Given the description of an element on the screen output the (x, y) to click on. 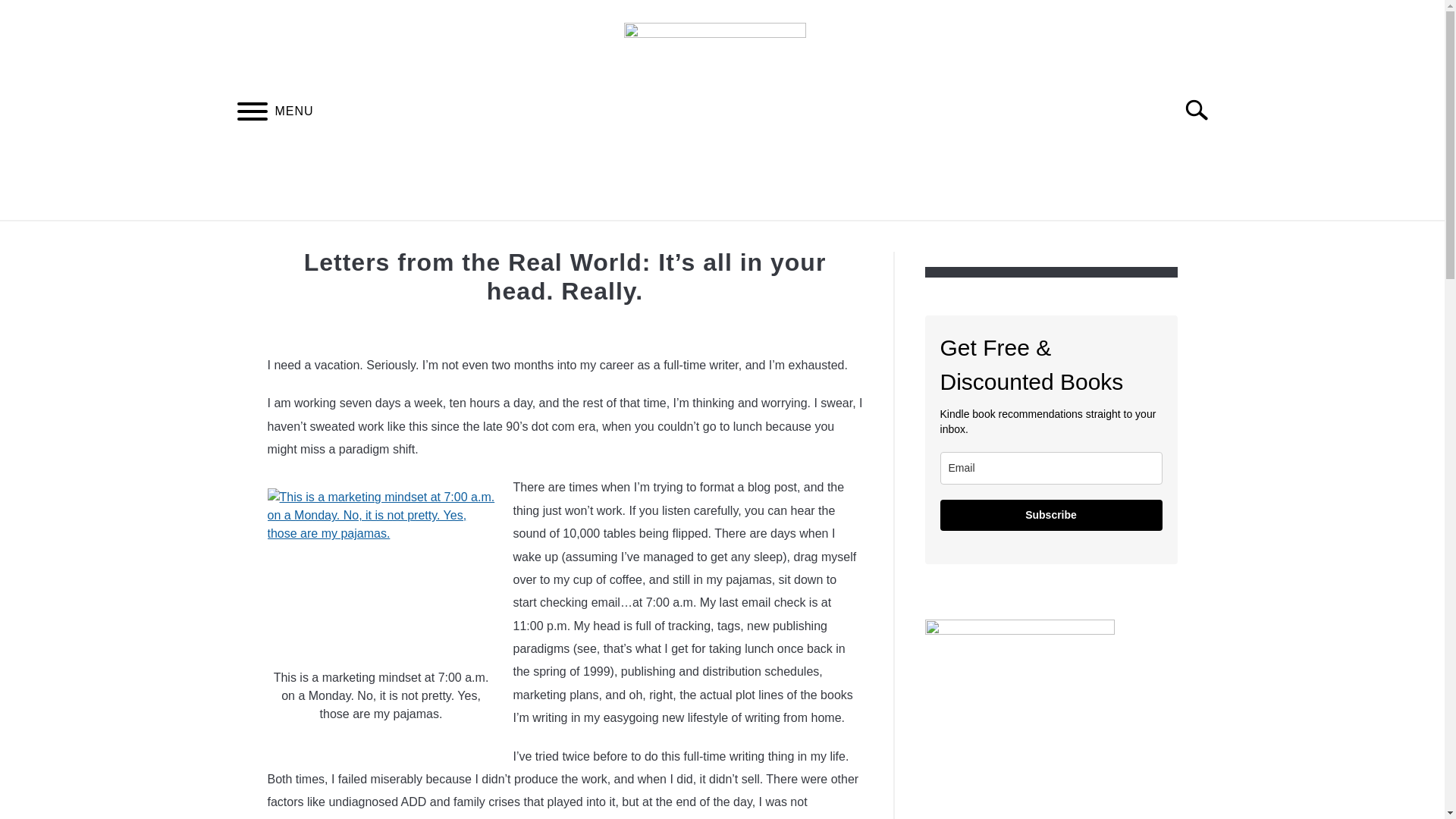
SELF-PUBLISHING (497, 238)
Search (1203, 109)
AMAZON ADVERTISING KDP (681, 238)
Subscribe (1050, 514)
Get the Book! (1019, 721)
BOOK MARKETING (867, 238)
ABOUT (983, 238)
MENU (251, 113)
